Given the description of an element on the screen output the (x, y) to click on. 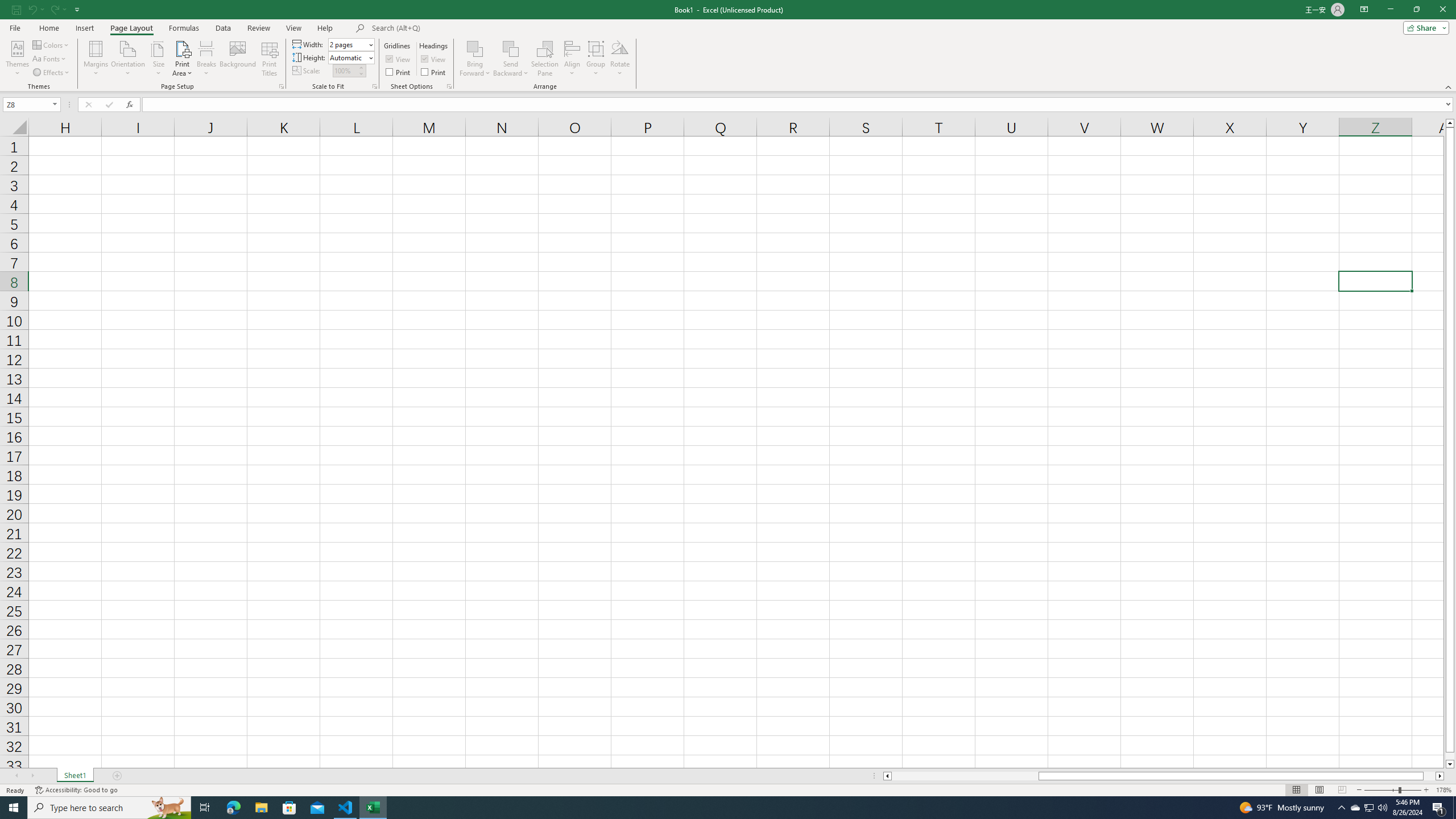
Margins (95, 58)
Formula Bar (798, 104)
Colors (51, 44)
Send Backward (510, 58)
Print Area (182, 58)
Selection Pane... (544, 58)
